Given the description of an element on the screen output the (x, y) to click on. 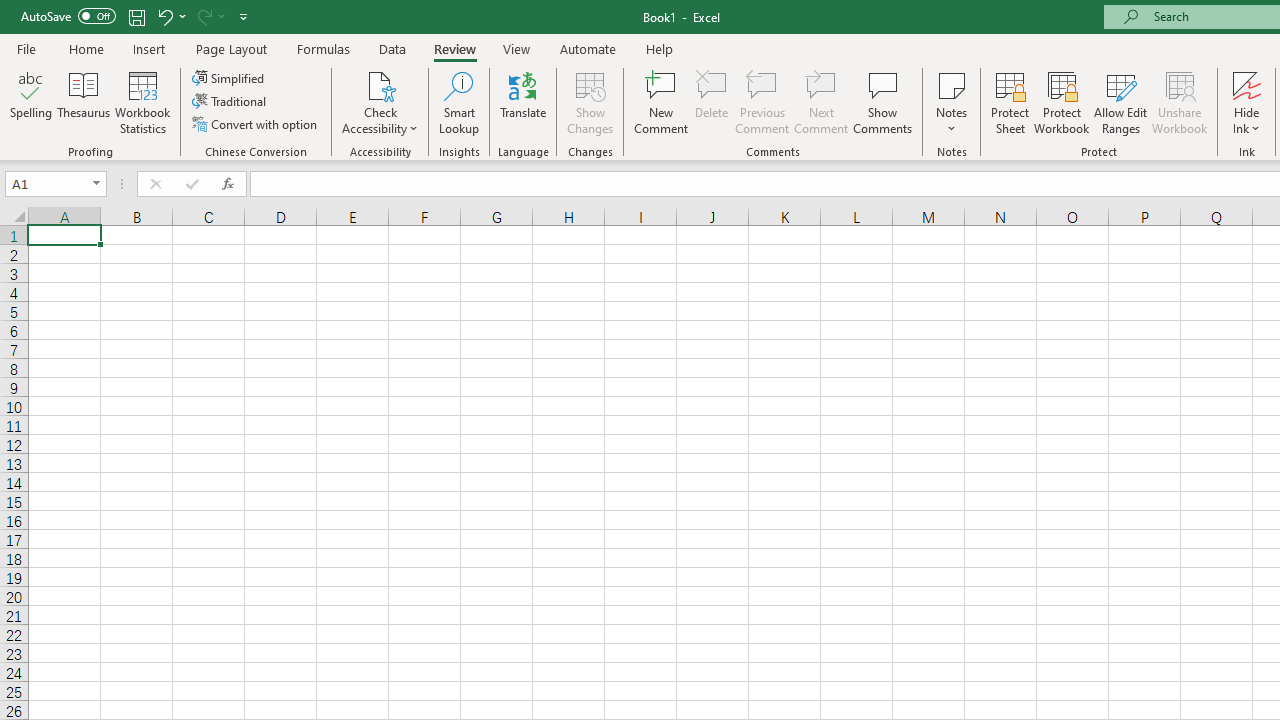
Protect Sheet... (1010, 102)
Traditional (230, 101)
Simplified (230, 78)
Thesaurus... (83, 102)
Allow Edit Ranges (1120, 102)
